Given the description of an element on the screen output the (x, y) to click on. 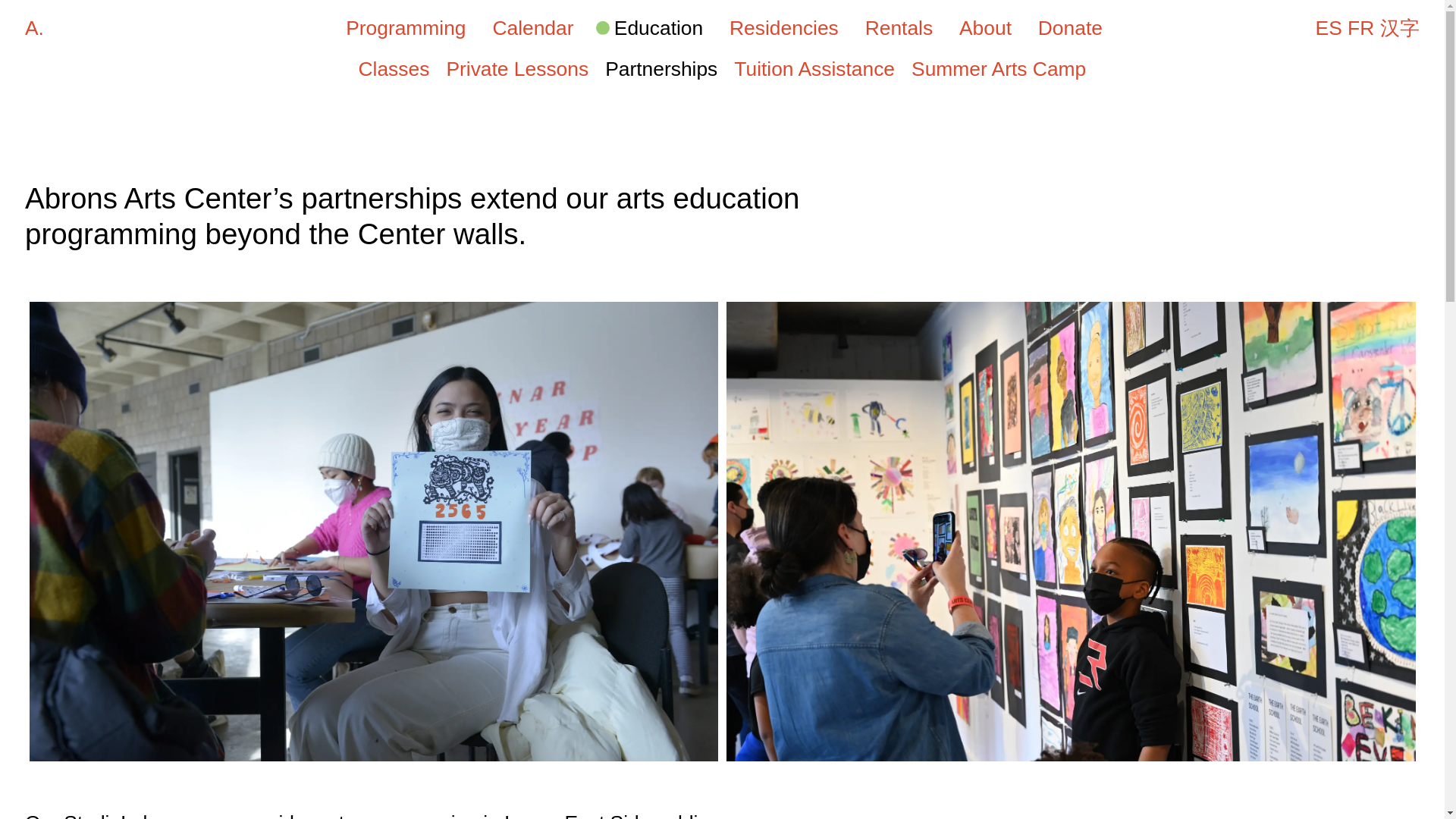
Private Lessons (516, 68)
Donate (1067, 28)
Rentals (896, 27)
Classes (393, 68)
Tuition Assistance (814, 68)
About (983, 27)
Education (649, 27)
Residencies (781, 27)
Partnerships (661, 68)
Summer Arts Camp (998, 68)
